Given the description of an element on the screen output the (x, y) to click on. 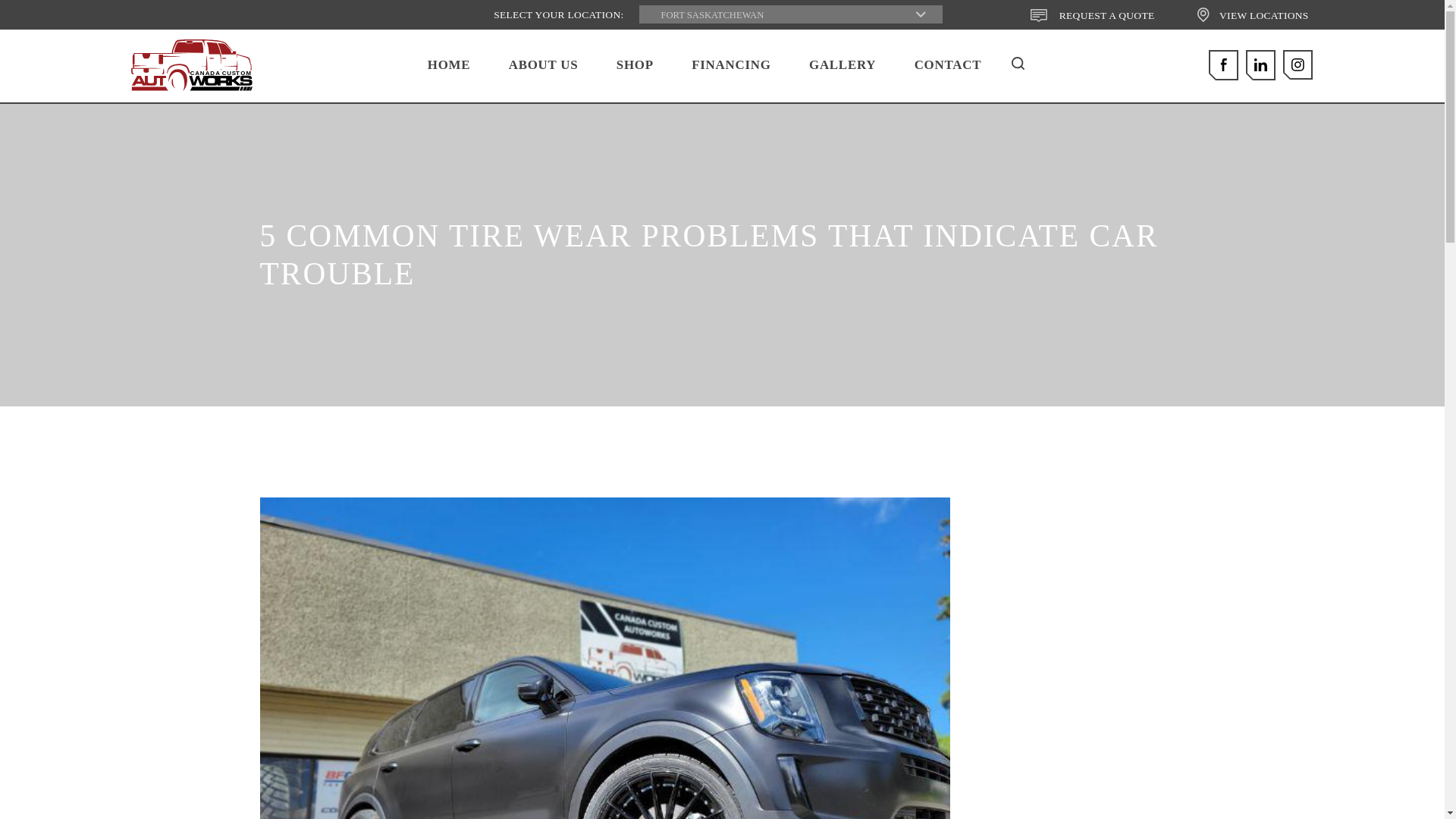
HOME (449, 64)
ABOUT US (542, 64)
GALLERY (842, 64)
REQUEST A QUOTE (1092, 15)
FINANCING (731, 64)
CONTACT (191, 64)
VIEW LOCATIONS (947, 64)
Canada Custom Autoworks (191, 64)
SHOP (1251, 15)
